Given the description of an element on the screen output the (x, y) to click on. 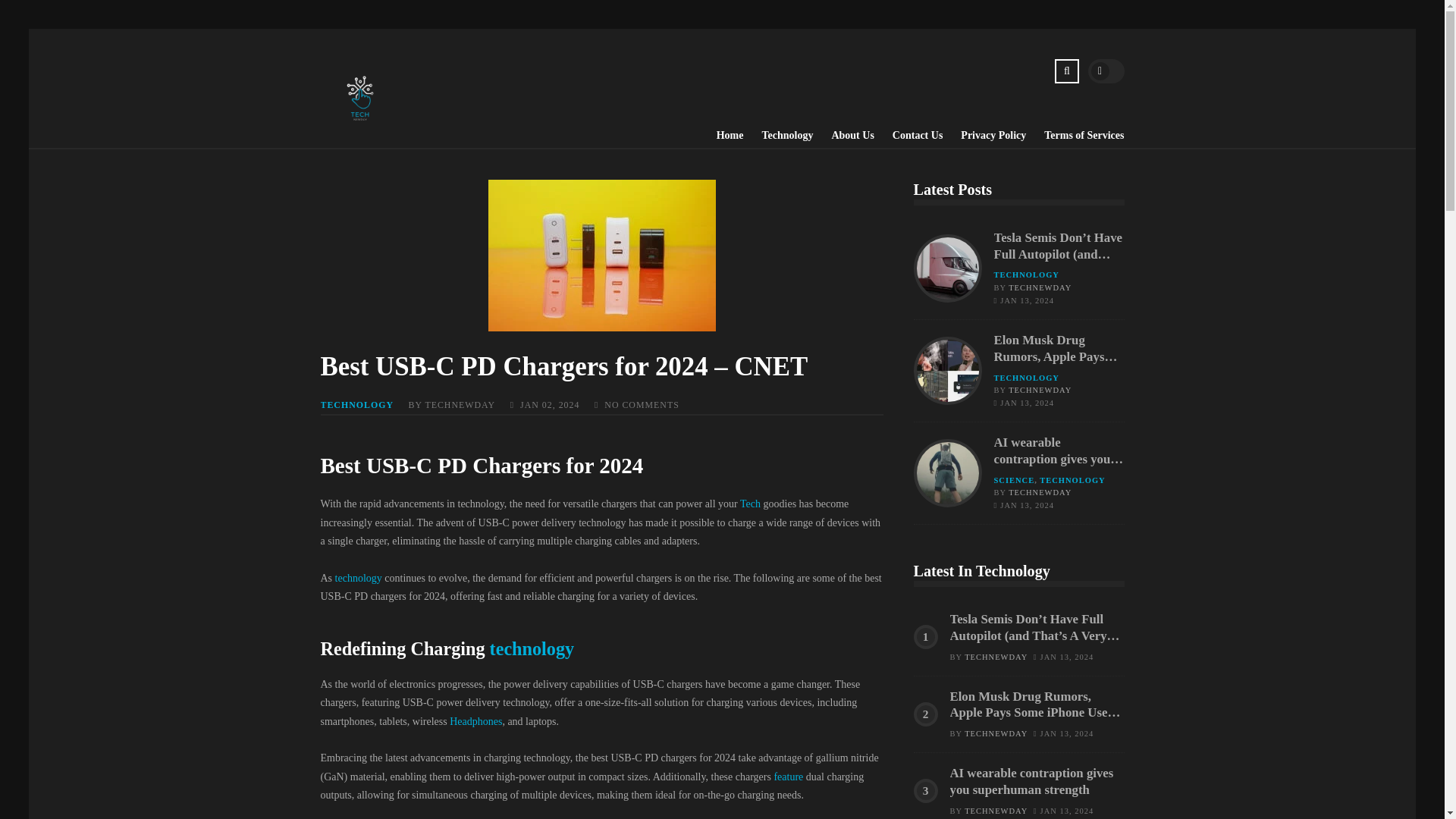
Posts by technewday (995, 733)
About Us (842, 135)
Technology (777, 135)
technology (532, 648)
Headphones (475, 721)
Posts by technewday (995, 810)
Terms of Services (1075, 135)
Posts by technewday (1040, 287)
technology (357, 577)
Posts by technewday (995, 656)
Contact Us (909, 135)
Posts by technewday (1040, 492)
Home (721, 135)
Tech (749, 503)
feature (788, 776)
